Given the description of an element on the screen output the (x, y) to click on. 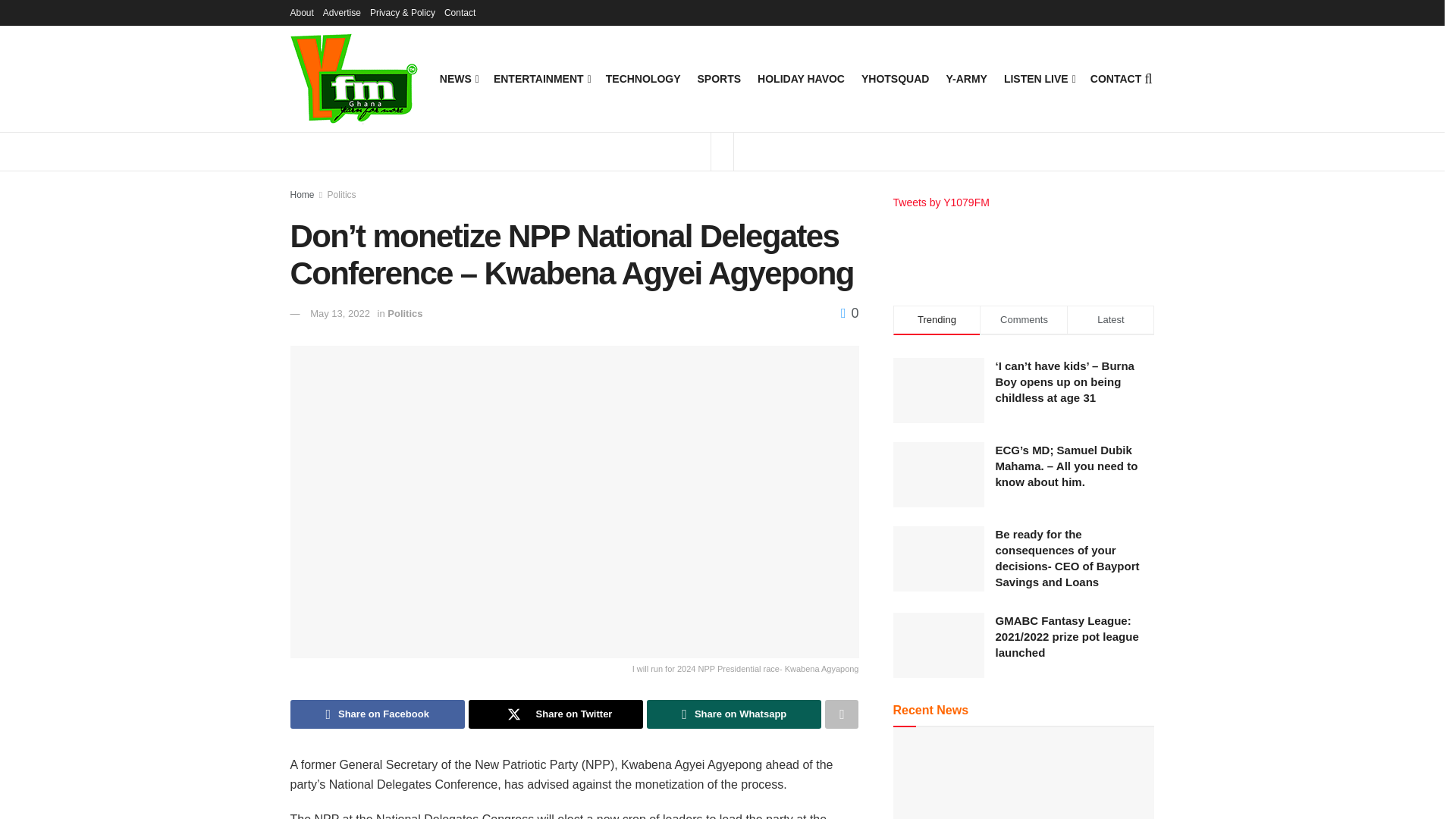
SPORTS (719, 78)
LISTEN LIVE (1039, 78)
Contact (460, 12)
TECHNOLOGY (643, 78)
ENTERTAINMENT (541, 78)
About (301, 12)
Y-ARMY (965, 78)
YHOTSQUAD (894, 78)
CONTACT (1115, 78)
HOLIDAY HAVOC (800, 78)
